Given the description of an element on the screen output the (x, y) to click on. 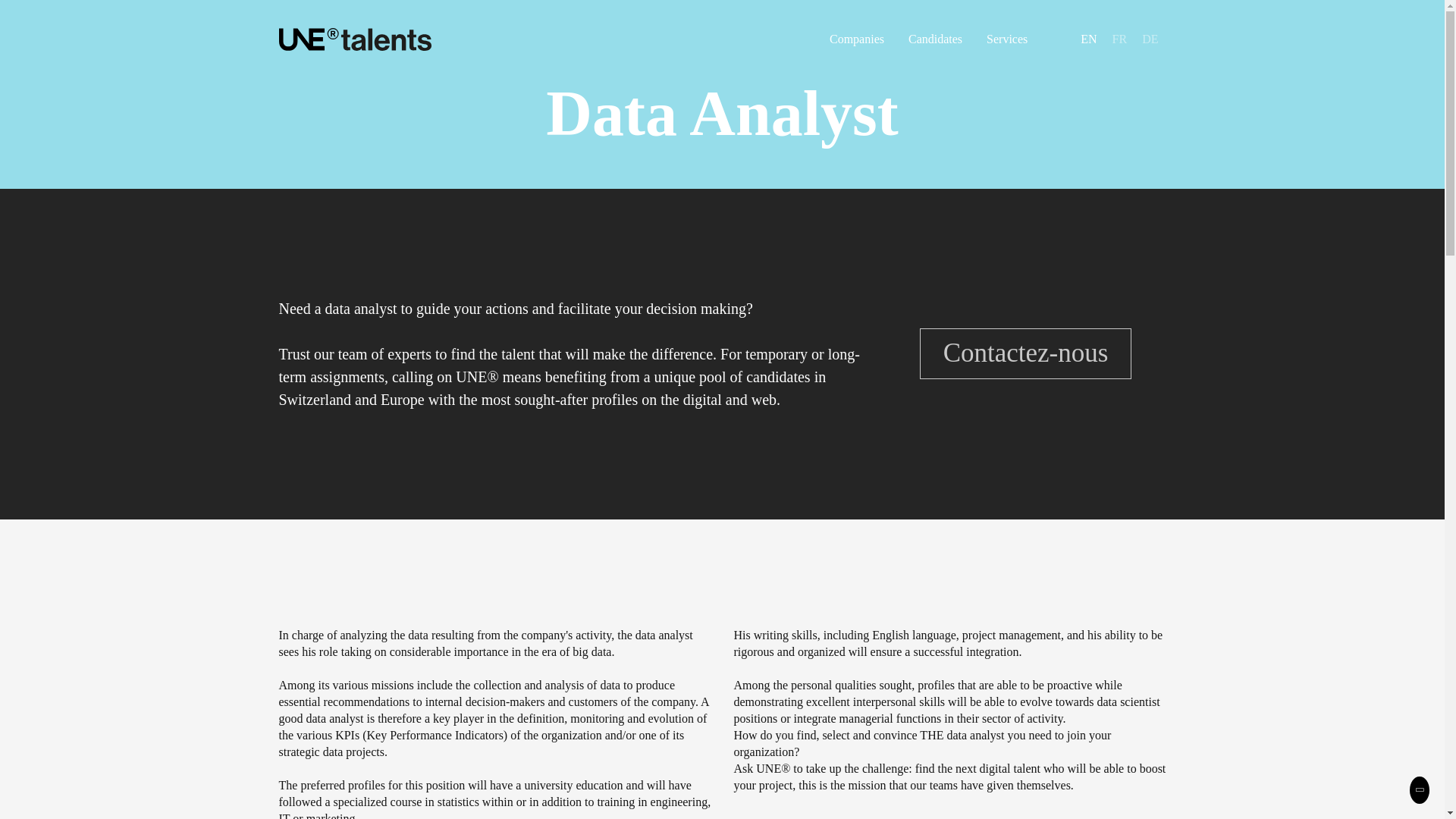
Candidates (935, 38)
Services (1007, 38)
FR (1119, 38)
Contactez-nous (1026, 353)
DE (1149, 38)
Companies (856, 38)
